Given the description of an element on the screen output the (x, y) to click on. 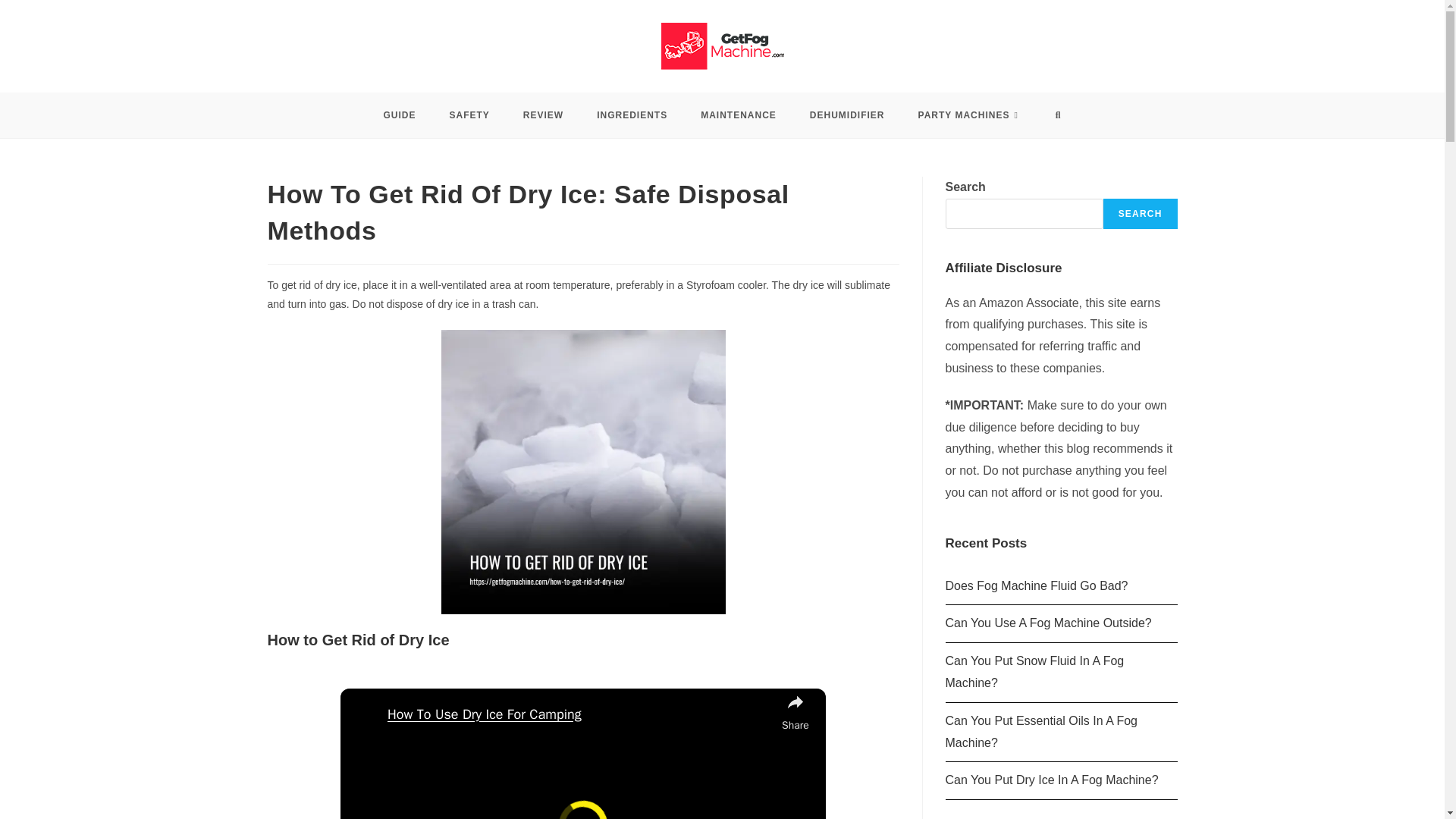
DEHUMIDIFIER (847, 115)
How To Use Dry Ice For Camping (580, 713)
Does Fog Machine Fluid Go Bad? (1035, 585)
PARTY MACHINES (970, 115)
REVIEW (542, 115)
GUIDE (399, 115)
SEARCH (1140, 214)
SAFETY (468, 115)
MAINTENANCE (738, 115)
INGREDIENTS (631, 115)
